Given the description of an element on the screen output the (x, y) to click on. 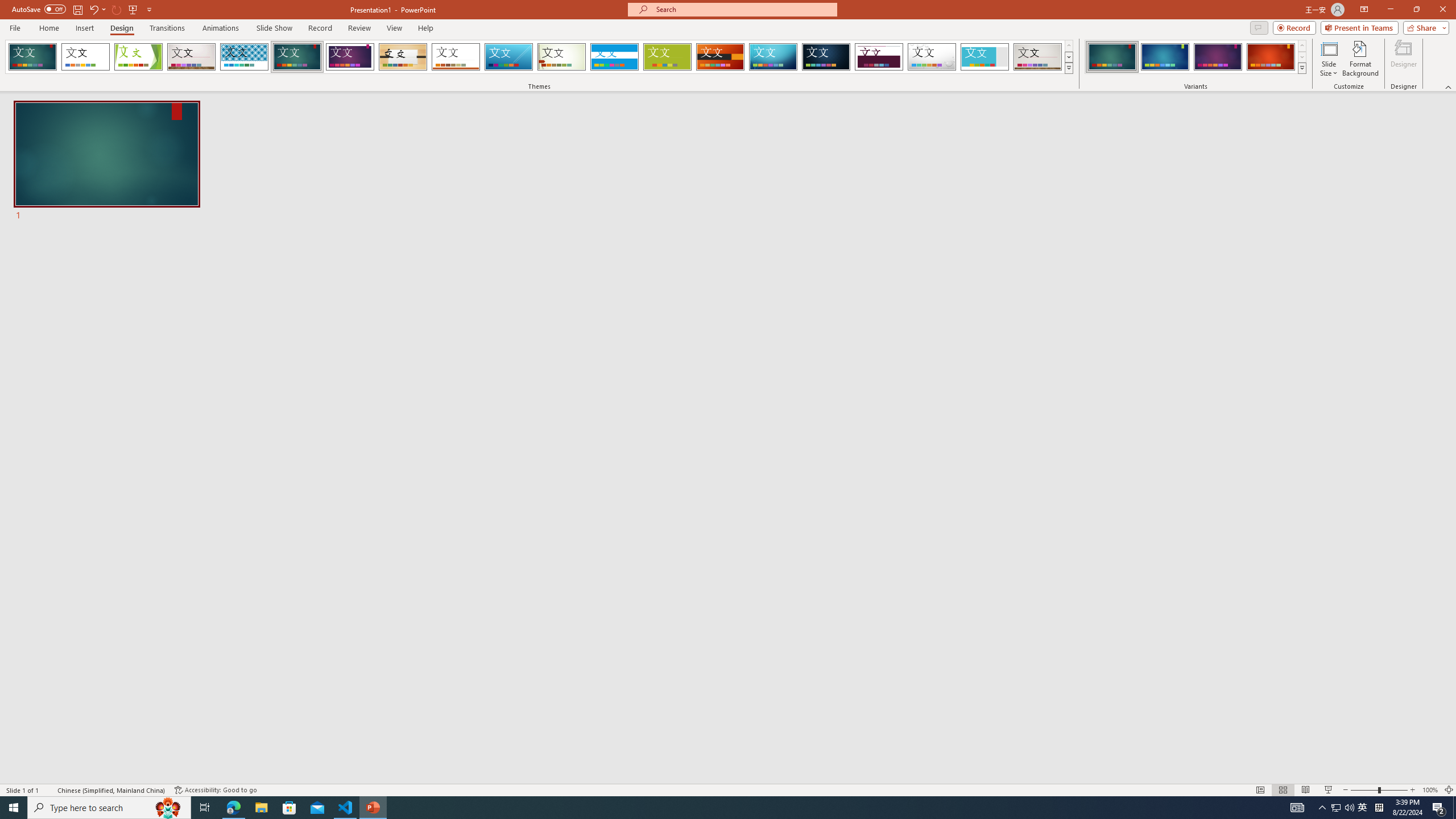
Slice Loading Preview... (508, 56)
